Given the description of an element on the screen output the (x, y) to click on. 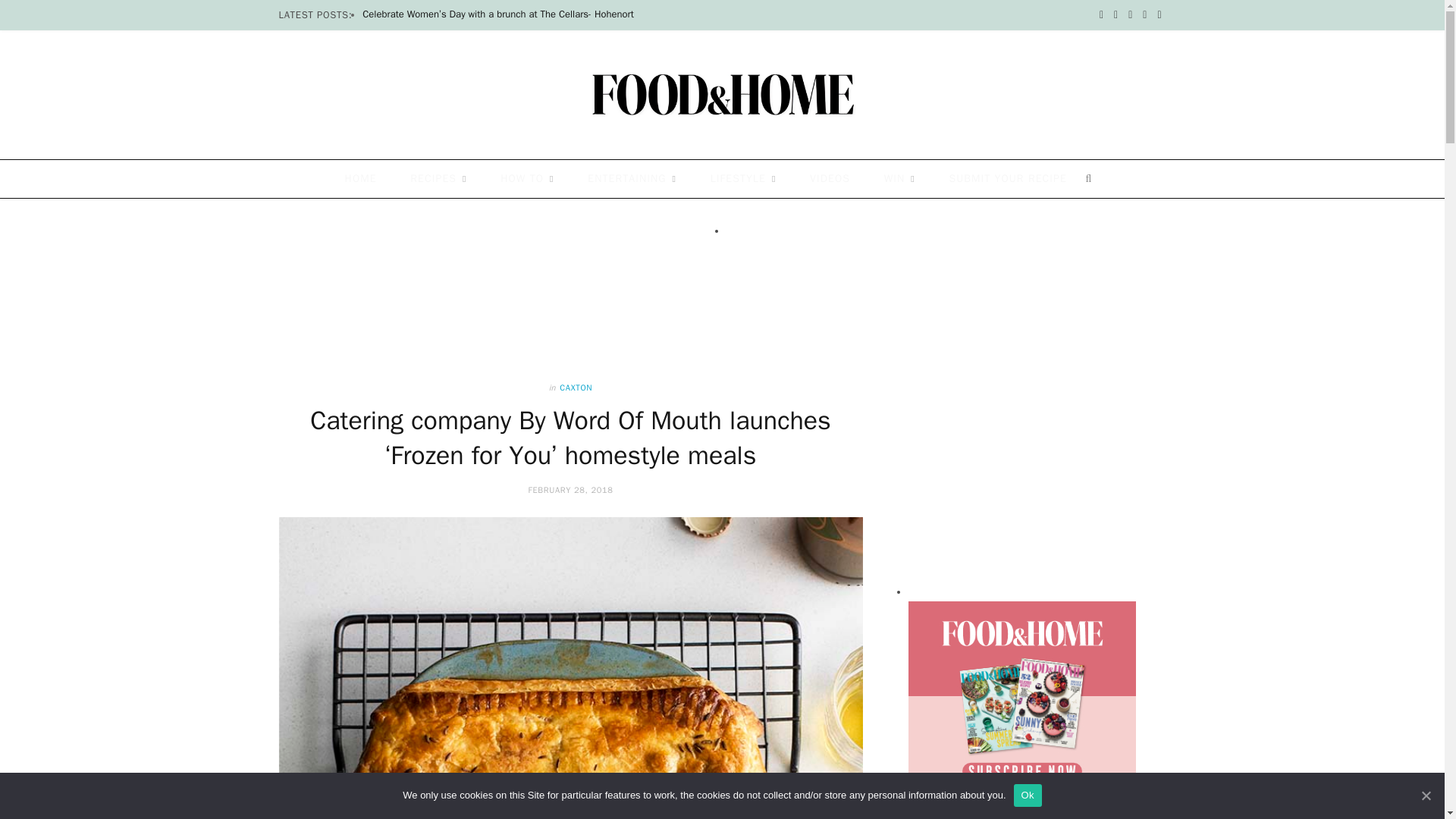
3rd party ad content (721, 274)
HOME (360, 178)
RECIPES (437, 178)
